Given the description of an element on the screen output the (x, y) to click on. 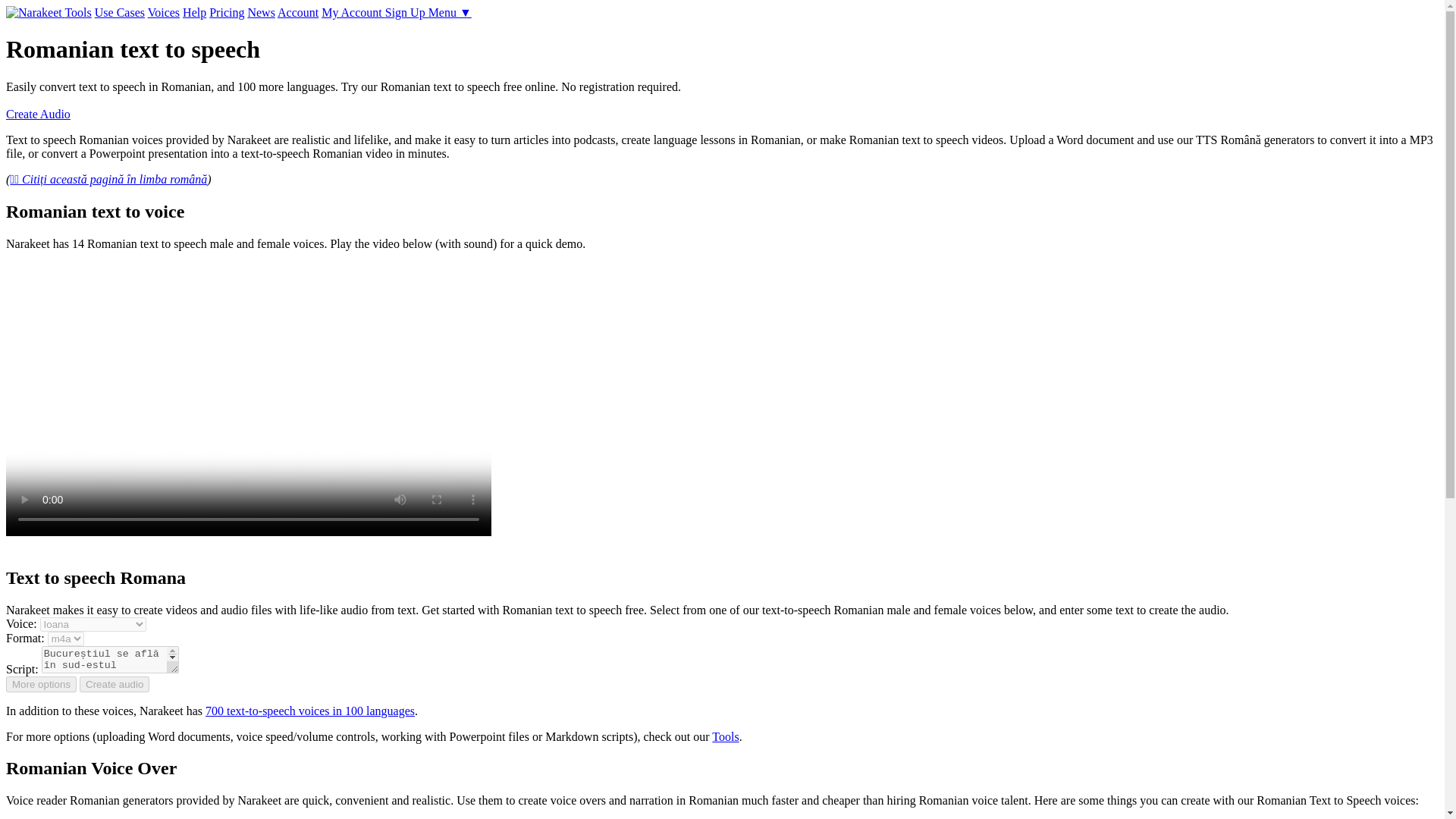
Create audio (114, 684)
Create Audio (37, 113)
More options (41, 684)
Tools (724, 735)
Create audio (114, 684)
Tools (77, 11)
700 text-to-speech voices in 100 languages (309, 709)
Pricing (226, 11)
Voices (163, 11)
Use Cases (119, 11)
More options (41, 684)
News (261, 11)
Text To Speech Romanian (248, 399)
Account (298, 11)
My Account (353, 11)
